Given the description of an element on the screen output the (x, y) to click on. 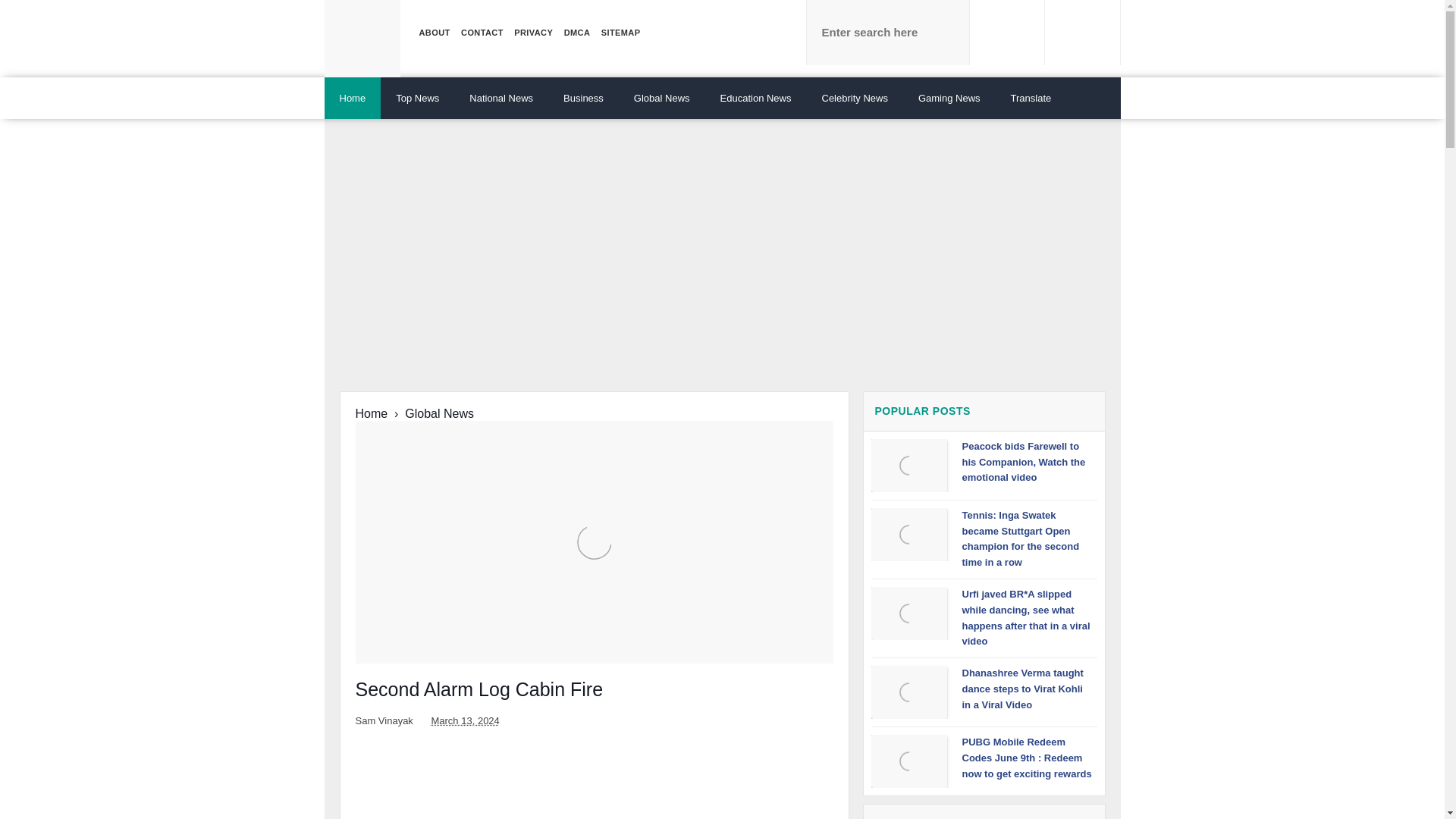
Education News (755, 97)
Global News (661, 97)
Gaming News (948, 97)
permanent link (464, 720)
Top News (417, 97)
Home (352, 97)
Sam Vinayak (384, 720)
Search (1007, 32)
English (1031, 97)
March 13, 2024 (464, 720)
